Given the description of an element on the screen output the (x, y) to click on. 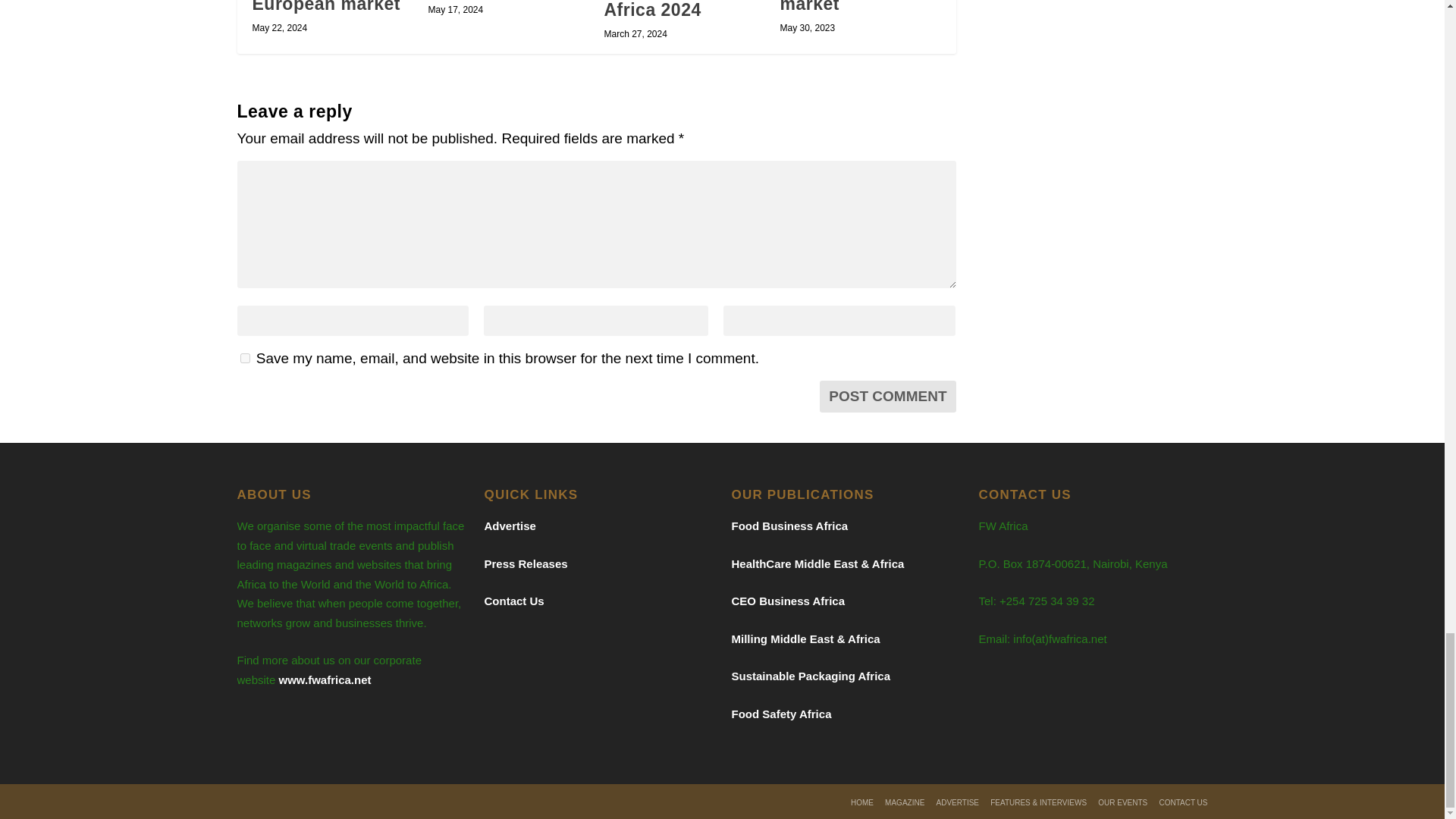
Post Comment (887, 396)
yes (244, 357)
